Given the description of an element on the screen output the (x, y) to click on. 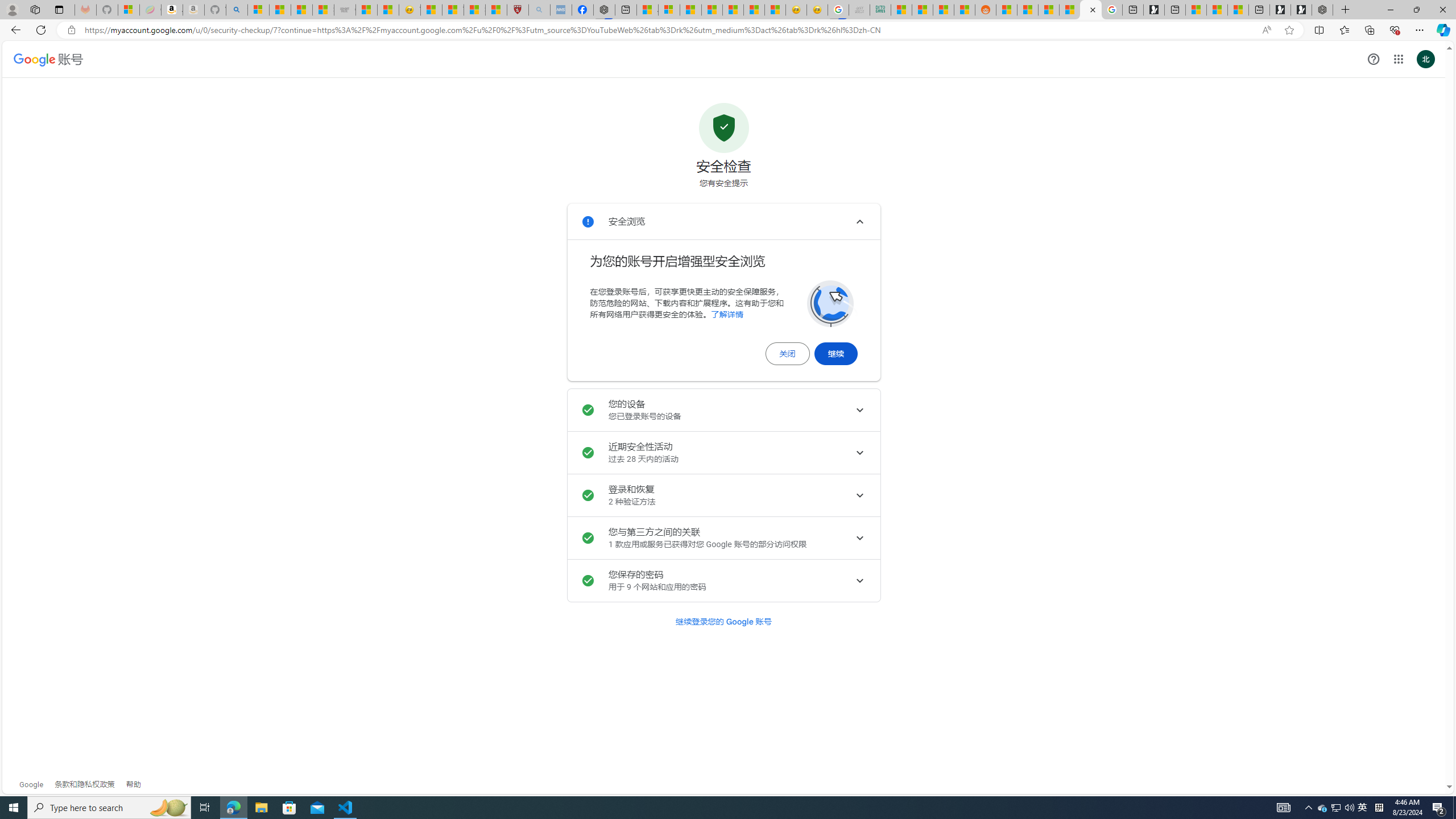
14 Common Myths Debunked By Scientific Facts (712, 9)
